Given the description of an element on the screen output the (x, y) to click on. 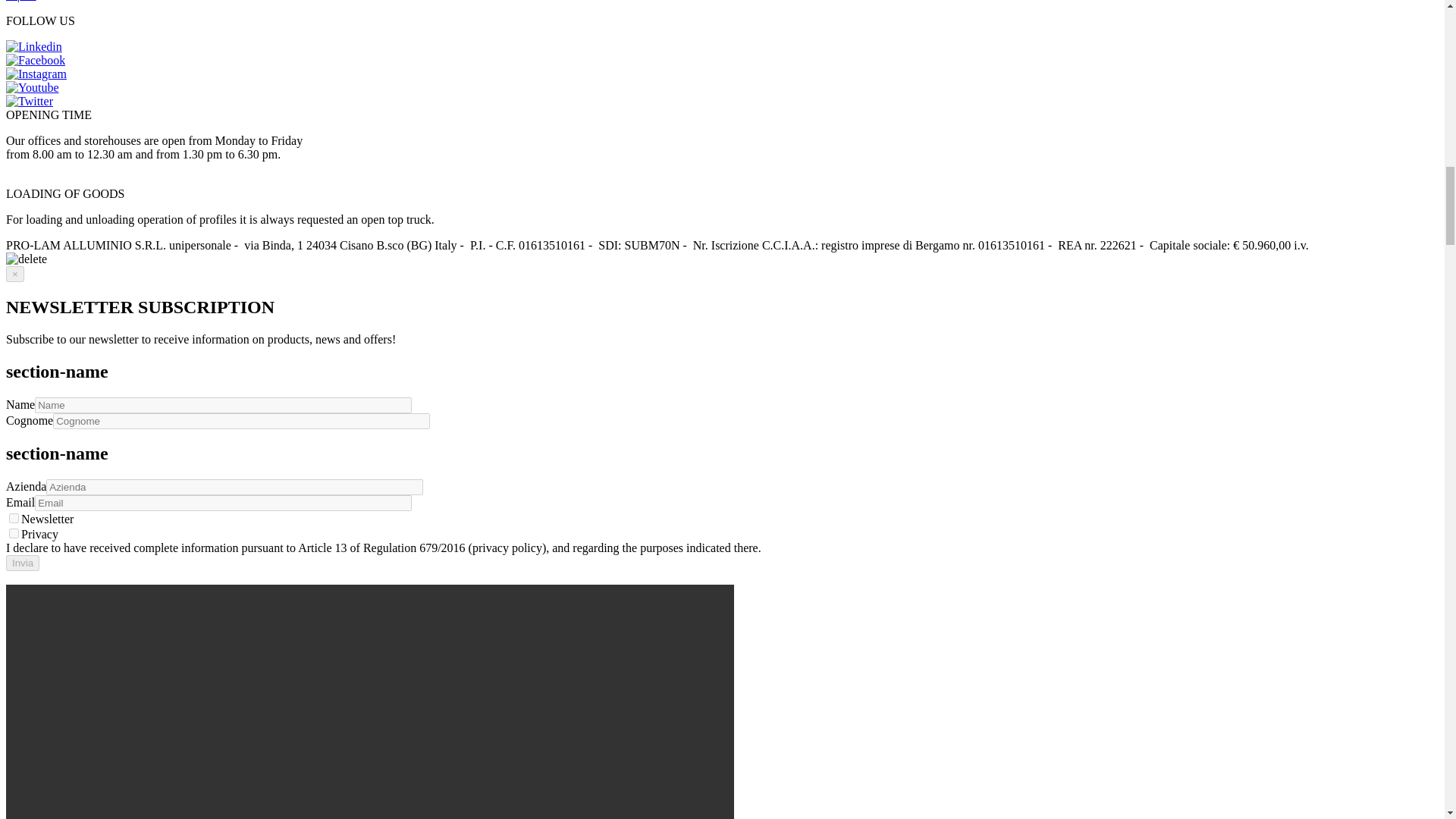
Youtube (32, 88)
1 (13, 533)
instagram (35, 74)
Invia (22, 562)
twitter (28, 101)
Linkedin (33, 47)
facebook (35, 60)
1 (13, 518)
